Given the description of an element on the screen output the (x, y) to click on. 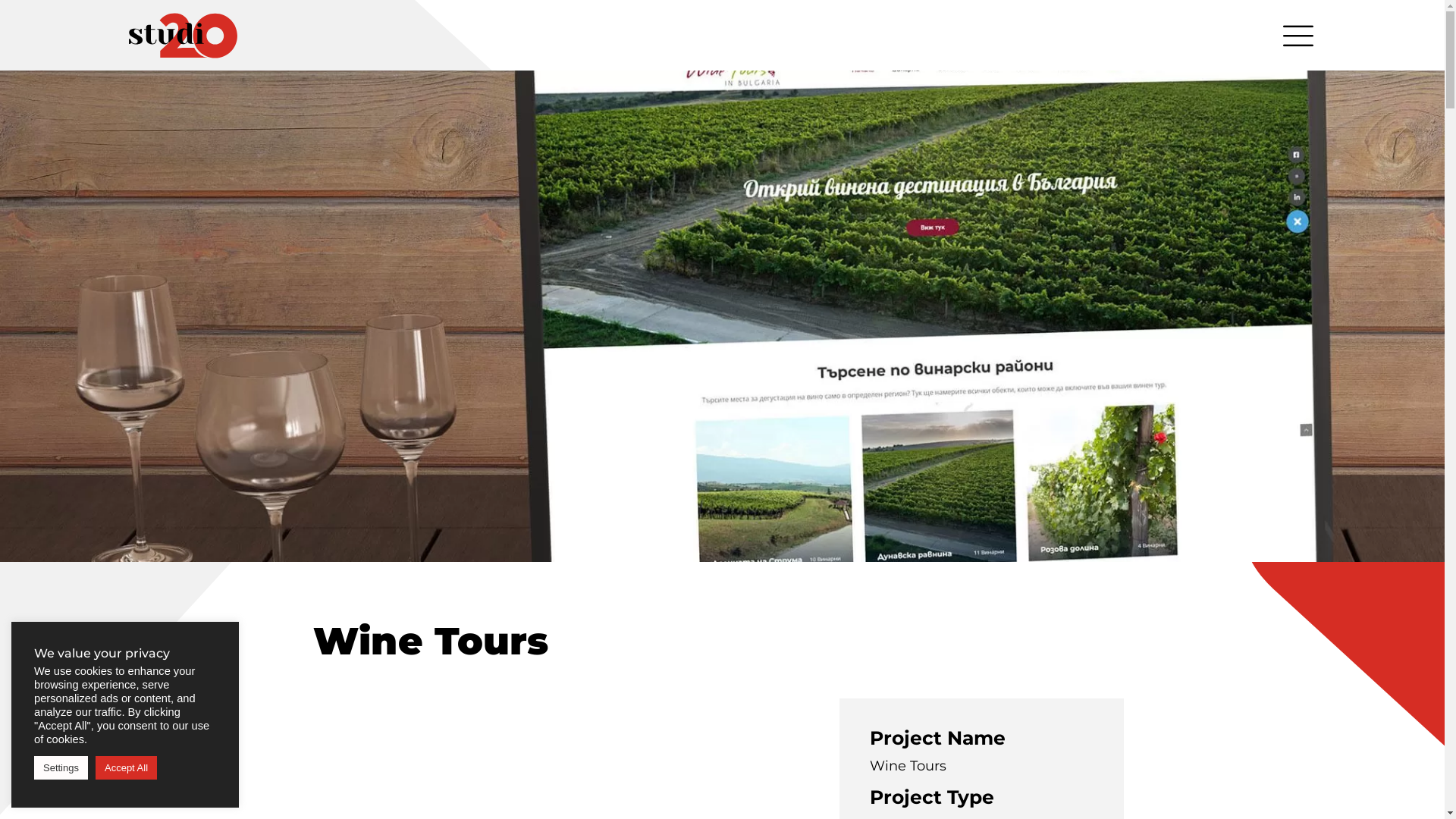
Accept All Element type: text (125, 767)
Settings Element type: text (60, 767)
